Given the description of an element on the screen output the (x, y) to click on. 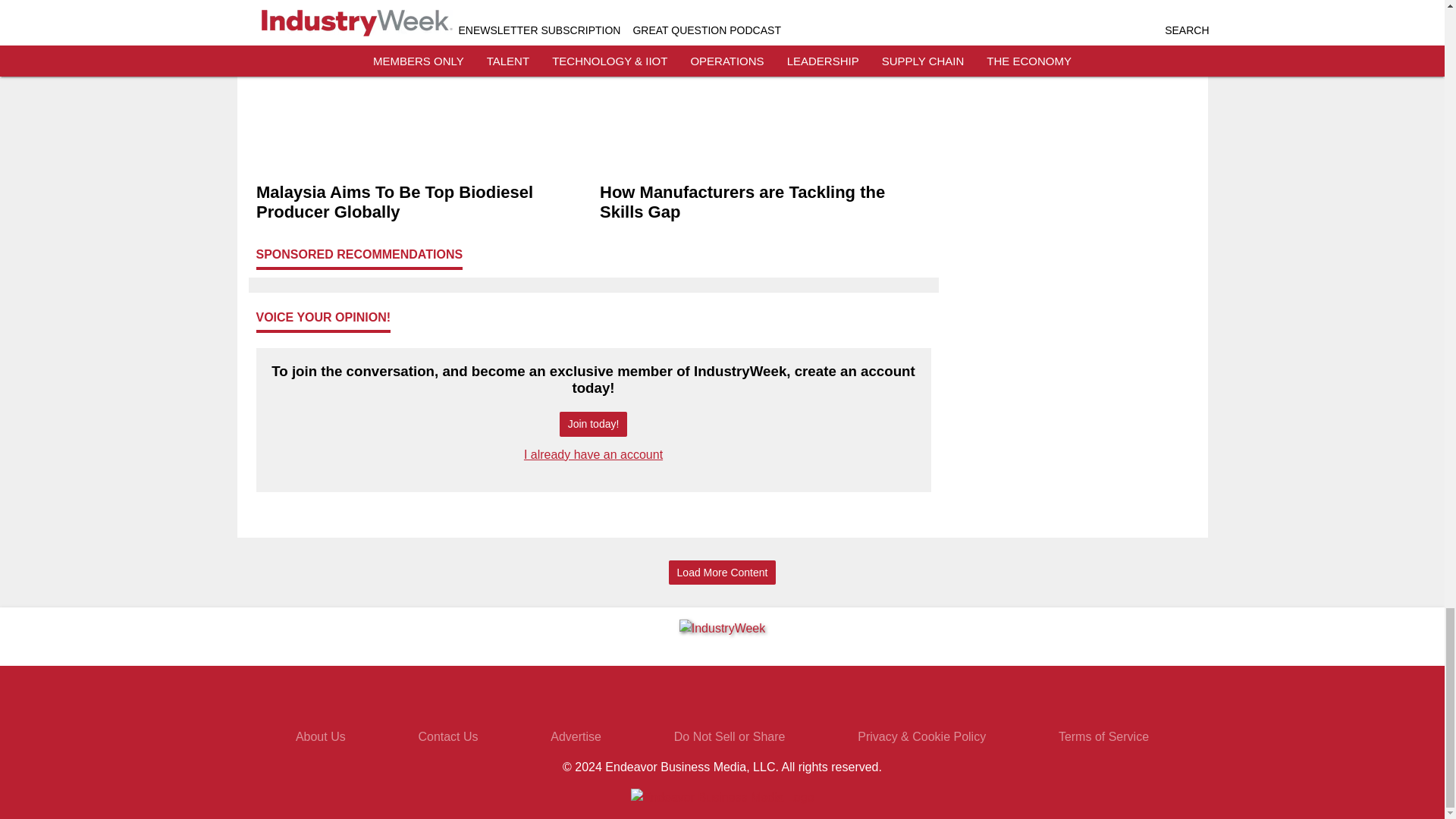
Malaysia Aims To Be Top Biodiesel Producer Globally (422, 201)
I already have an account (593, 454)
How Manufacturers are Tackling the Skills Gap (764, 201)
Join today! (593, 423)
